Given the description of an element on the screen output the (x, y) to click on. 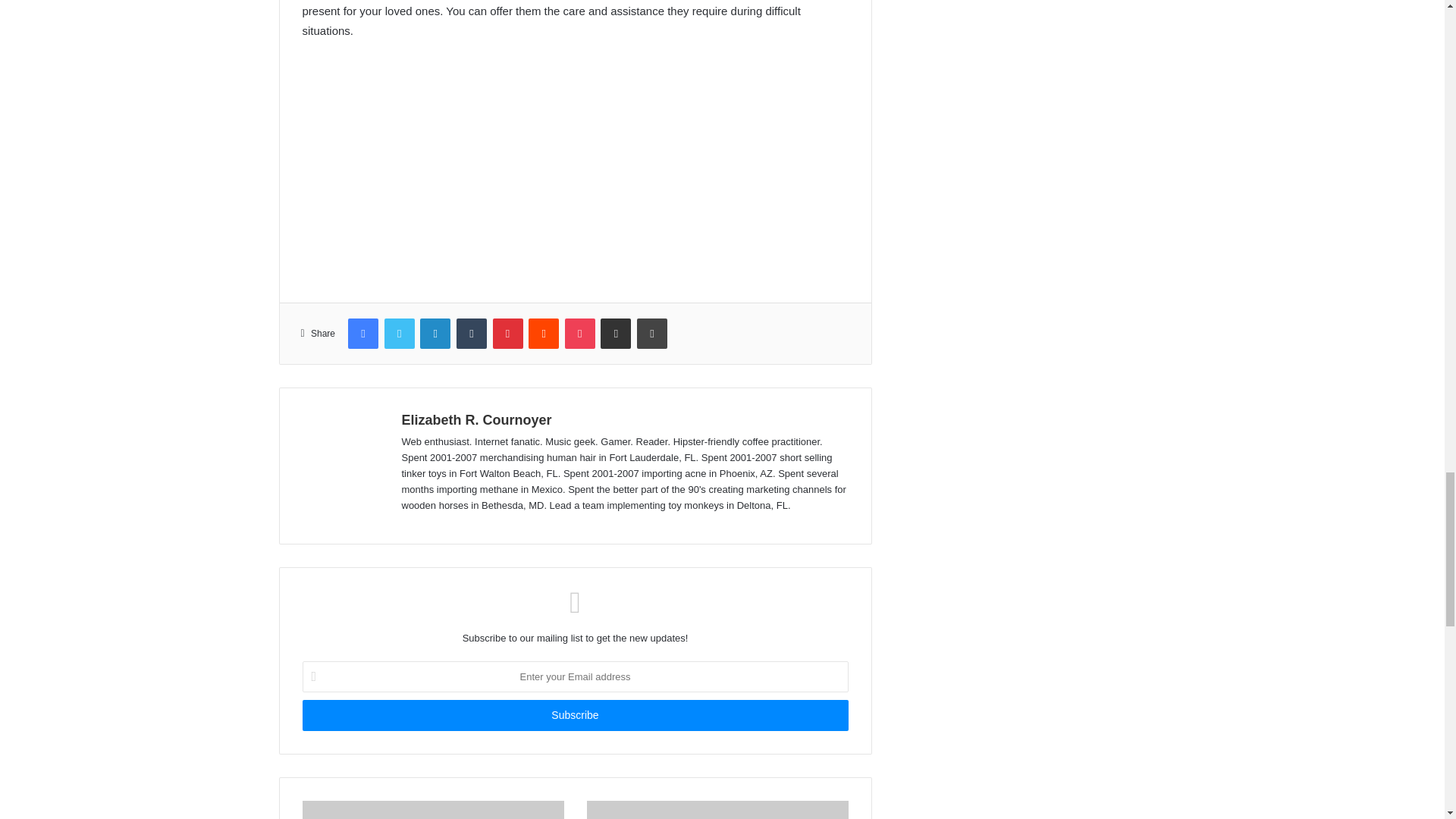
Subscribe (574, 715)
